Given the description of an element on the screen output the (x, y) to click on. 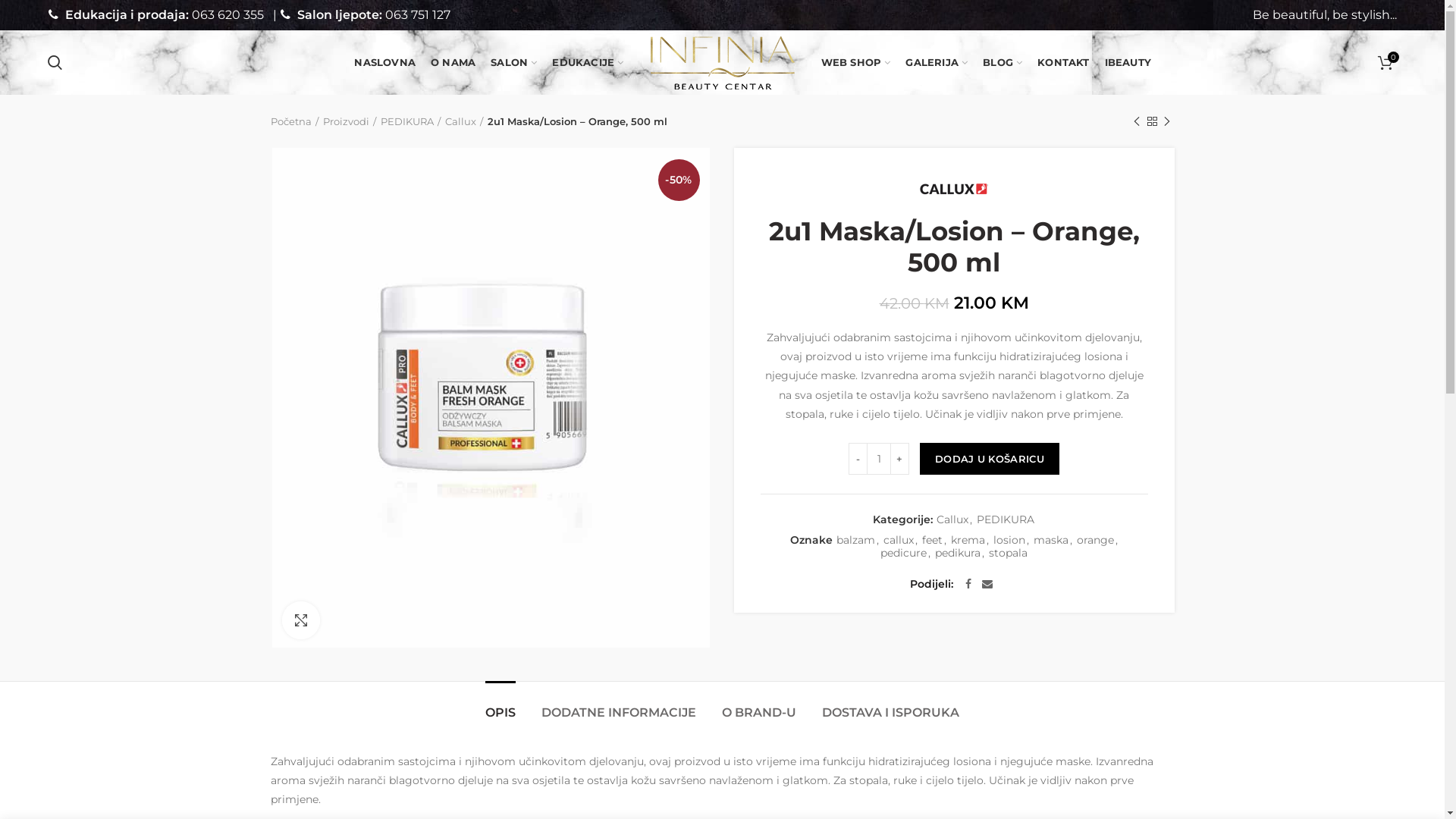
Next product Element type: text (1165, 120)
Callux Element type: text (952, 519)
orange Element type: text (1094, 539)
Email Element type: text (986, 583)
BLOG Element type: text (1002, 62)
IBEAUTY Element type: text (1127, 62)
063 751 127 Element type: text (417, 14)
Callux Element type: text (463, 120)
WEB SHOP Element type: text (854, 62)
callux losion orange Element type: hover (490, 397)
PEDIKURA Element type: text (410, 120)
O BRAND-U Element type: text (758, 704)
pedikura Element type: text (957, 552)
callux Element type: hover (953, 189)
DODATNE INFORMACIJE Element type: text (618, 704)
balzam Element type: text (854, 539)
losion Element type: text (1009, 539)
DOSTAVA I ISPORUKA Element type: text (890, 704)
OPIS Element type: text (500, 704)
maska Element type: text (1049, 539)
Facebook Element type: text (968, 583)
KONTAKT Element type: text (1062, 62)
pedicure Element type: text (903, 552)
Previous product Element type: text (1135, 120)
Proizvodi Element type: text (349, 120)
063 620 355 Element type: text (227, 14)
krema Element type: text (967, 539)
EDUKACIJE Element type: text (587, 62)
GALERIJA Element type: text (936, 62)
0 Element type: text (1385, 62)
Search Element type: hover (54, 62)
callux Element type: text (897, 539)
O NAMA Element type: text (453, 62)
NASLOVNA Element type: text (384, 62)
SALON Element type: text (513, 62)
stopala Element type: text (1007, 552)
PEDIKURA Element type: text (1005, 519)
feet Element type: text (932, 539)
